Given the description of an element on the screen output the (x, y) to click on. 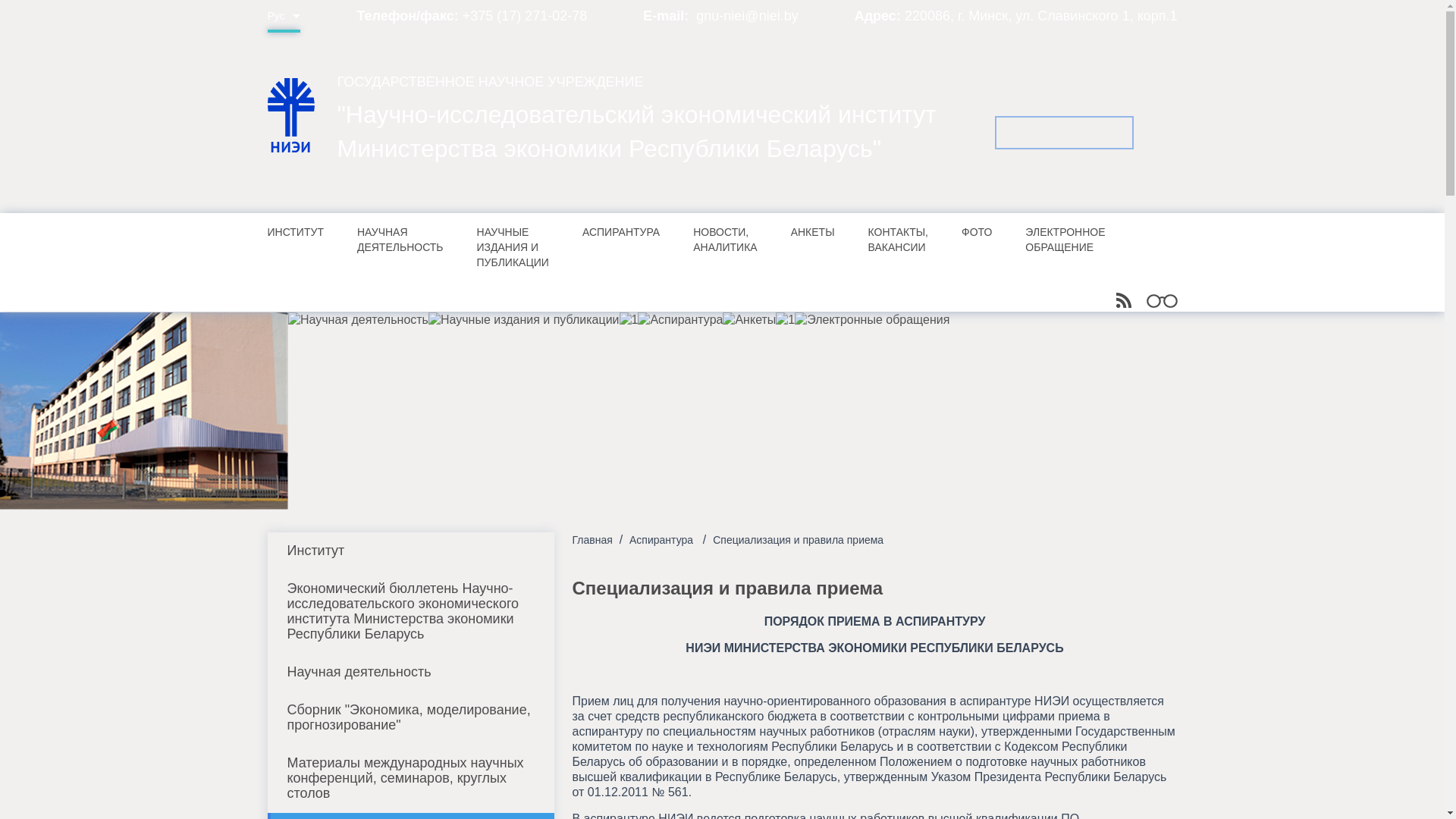
RSS Element type: hover (1123, 299)
RSS Element type: hover (1119, 303)
